Given the description of an element on the screen output the (x, y) to click on. 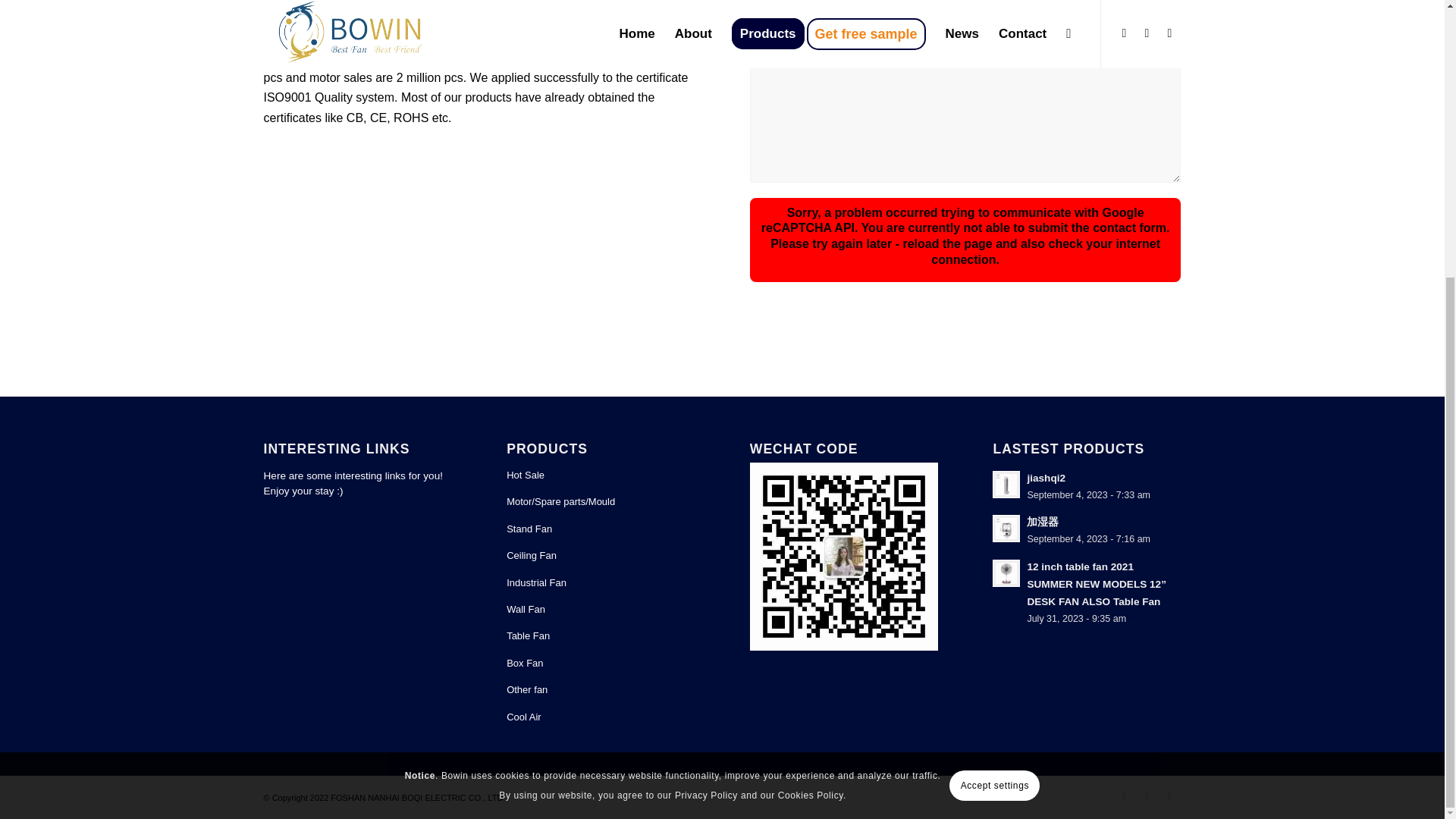
Youtube (1124, 794)
Facebook (1146, 794)
Rss (1169, 794)
jiashqi2 (1086, 485)
